Given the description of an element on the screen output the (x, y) to click on. 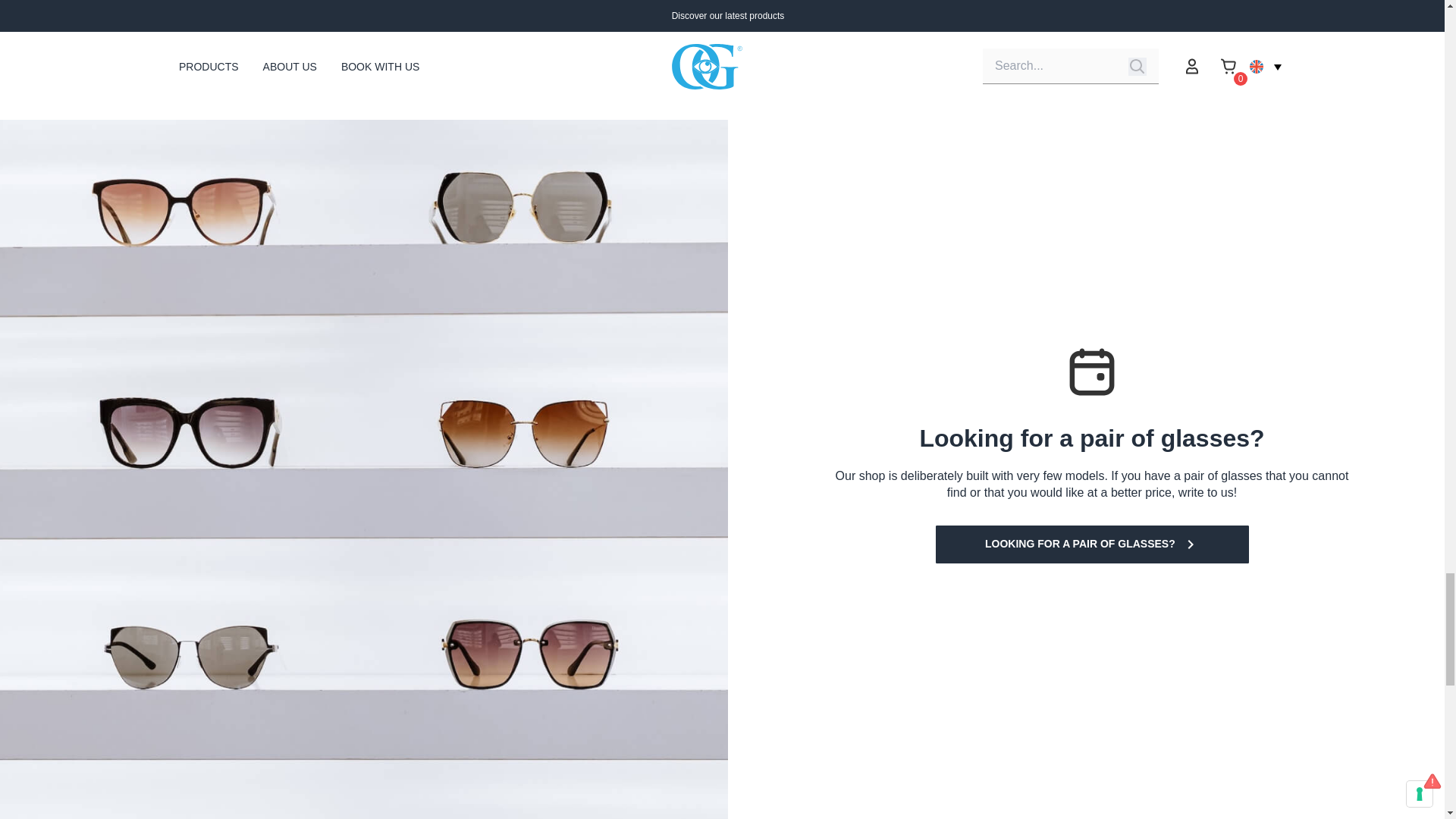
LOOKING FOR A PAIR OF GLASSES? (1092, 544)
